Given the description of an element on the screen output the (x, y) to click on. 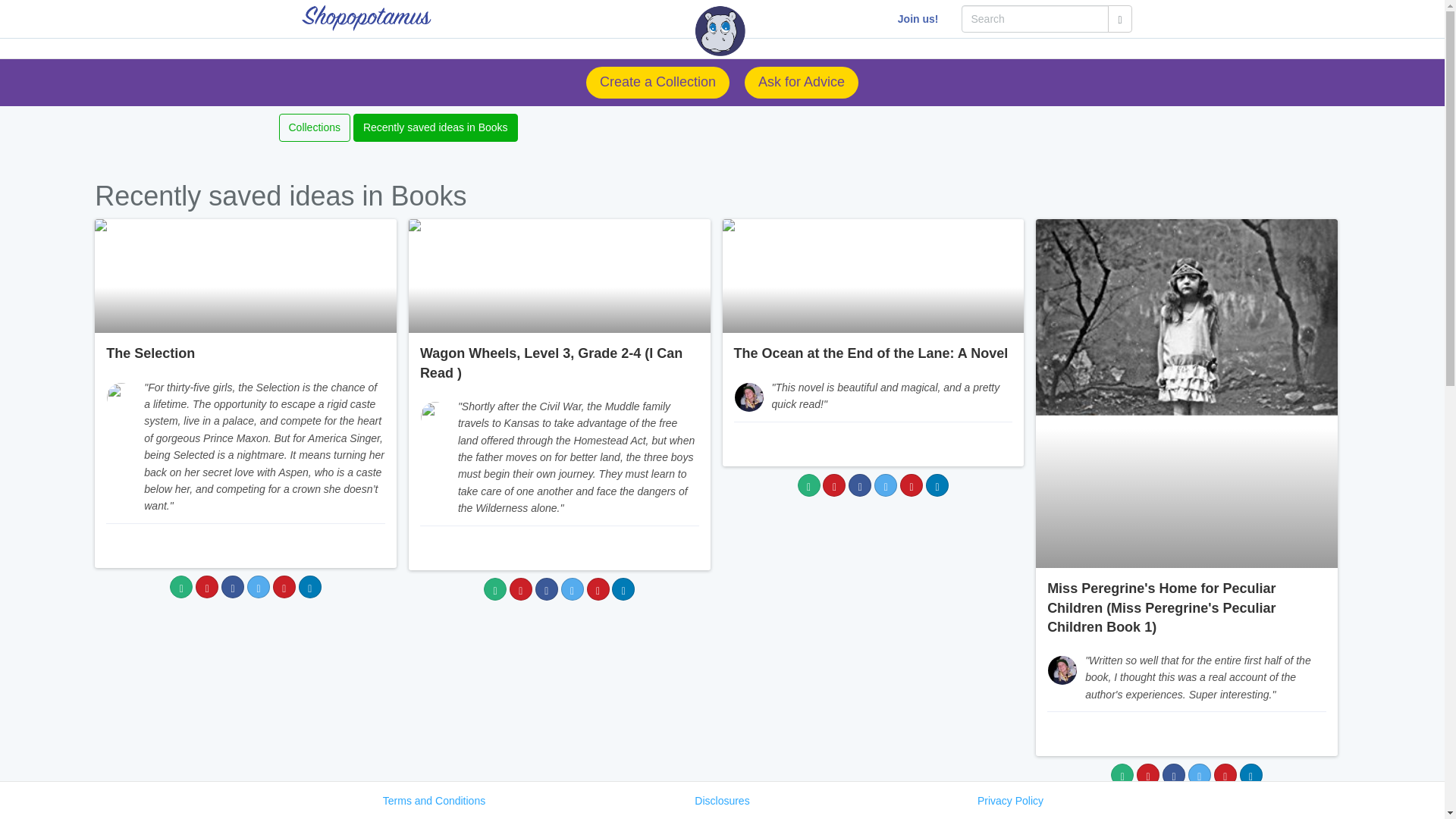
Tweet about this product (885, 485)
Share on Reddit (911, 485)
Email this product (809, 485)
Comment (989, 445)
Share on Reddit (598, 589)
Tweet about this product (258, 586)
Comment (362, 547)
Tweet about this product (571, 589)
Share on Facebook (232, 586)
Share on Reddit (284, 586)
Pin It (206, 586)
Email this product (181, 586)
Share on Facebook (859, 485)
Join us! (918, 18)
Pin It (520, 589)
